Given the description of an element on the screen output the (x, y) to click on. 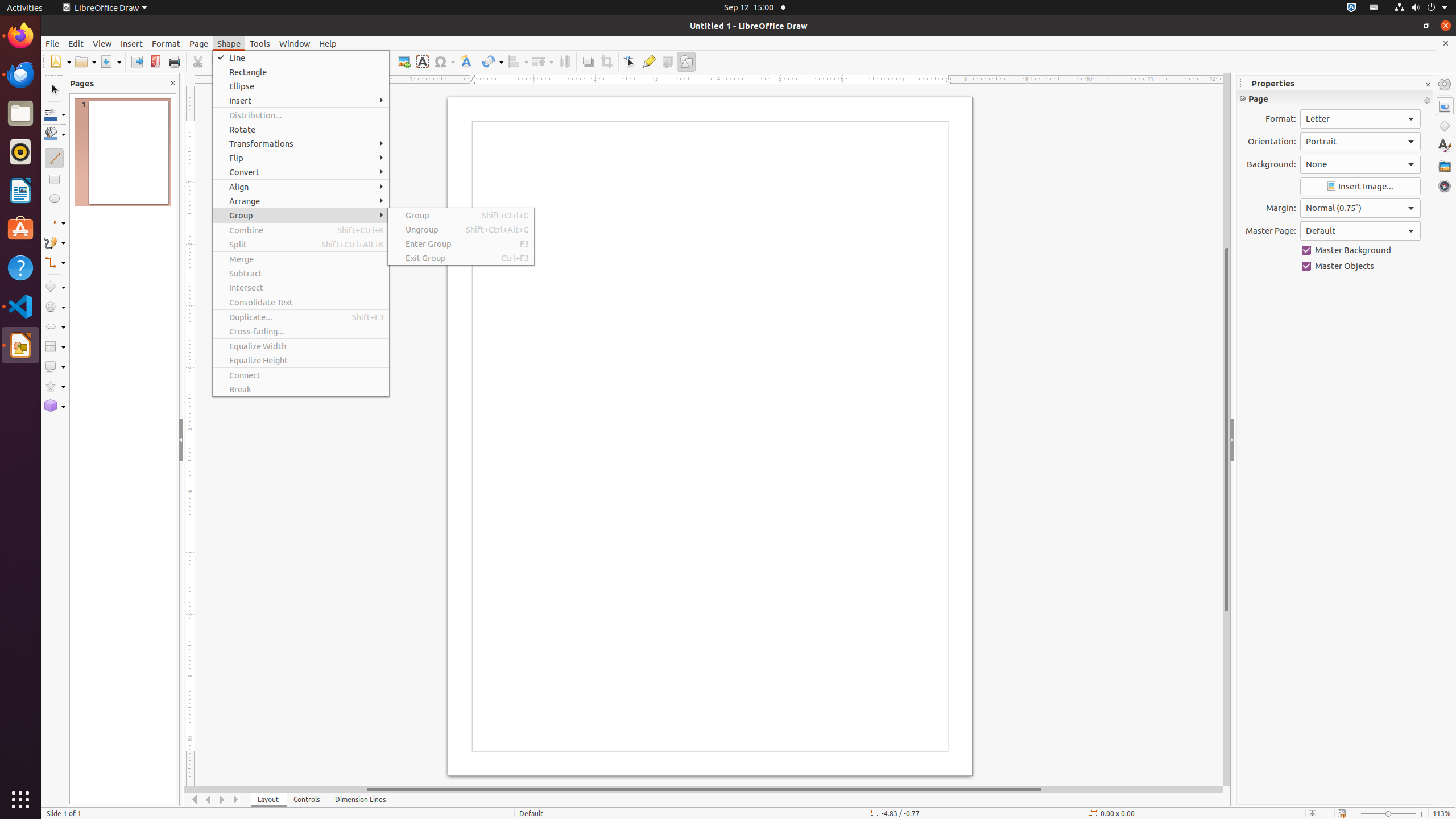
Transformations Element type: push-button (492, 61)
:1.72/StatusNotifierItem Element type: menu (1350, 7)
PDF Element type: push-button (155, 61)
Master Objects Element type: check-box (1360, 265)
Ungroup Element type: menu-item (460, 229)
